Given the description of an element on the screen output the (x, y) to click on. 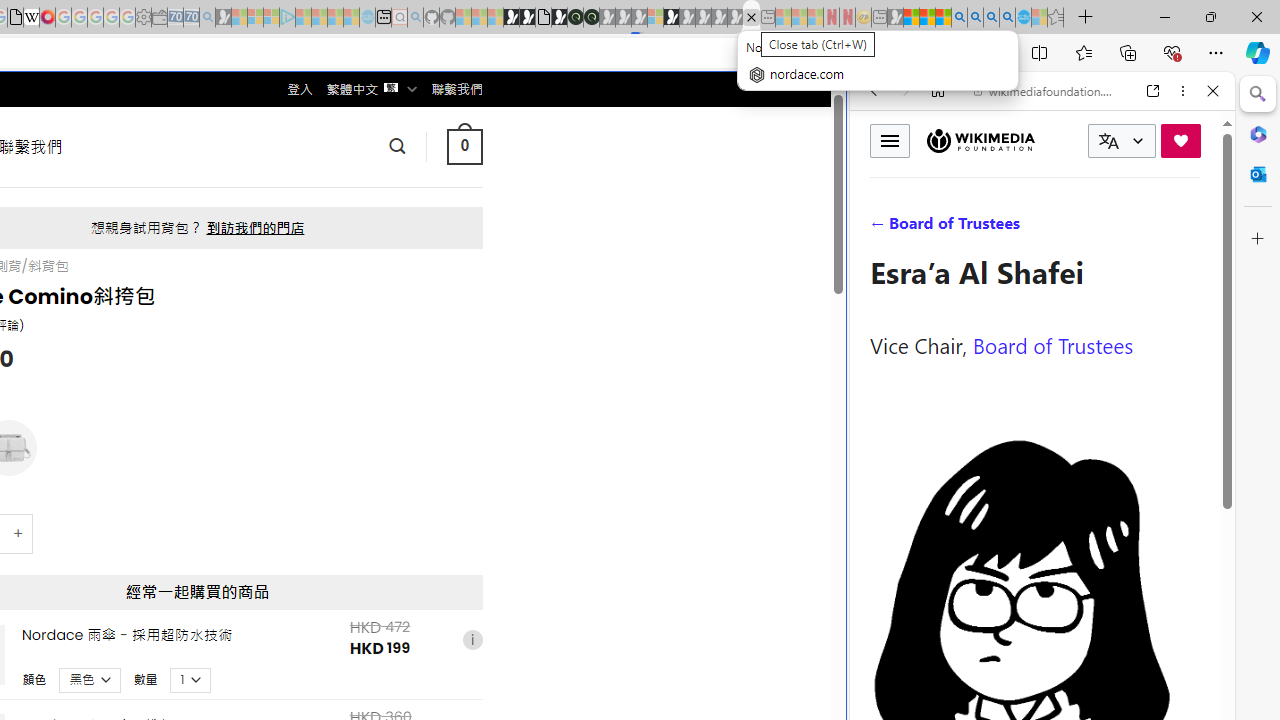
SEARCH TOOLS (1093, 228)
Tabs you've opened (276, 265)
Close split screen (844, 102)
Open link in new tab (1153, 91)
Frequently visited (418, 265)
  0   (464, 146)
Search the web (1051, 137)
wikimediafoundation.org (1045, 90)
Search or enter web address (343, 191)
Close tab (751, 16)
Search Filter, IMAGES (939, 228)
